Given the description of an element on the screen output the (x, y) to click on. 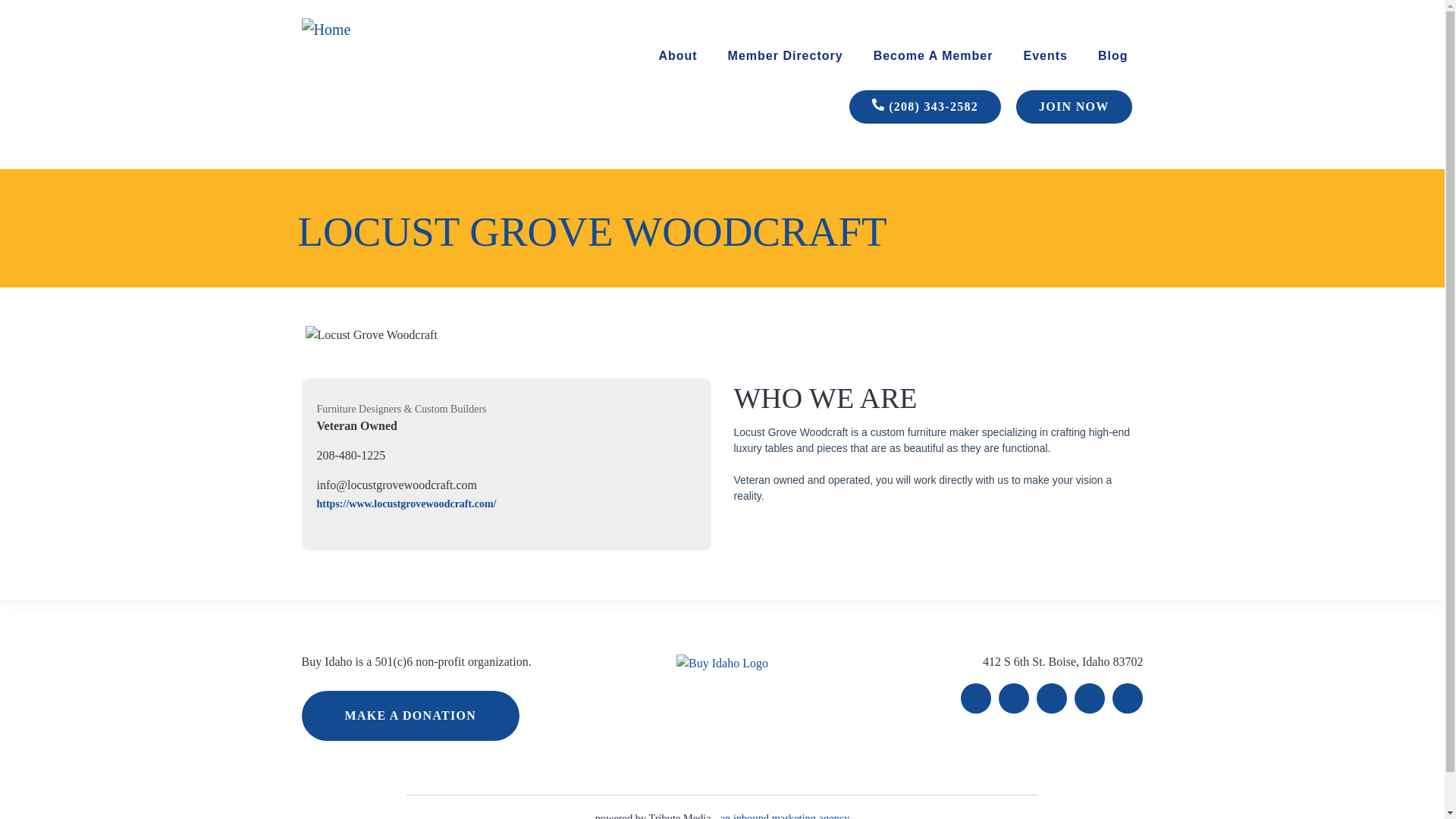
Become A Member (932, 55)
MAKE A DONATION (410, 716)
an inbound marketing agency (785, 815)
Events (1045, 55)
About (677, 55)
Make A Donation (410, 716)
Member Directory (785, 55)
Home (376, 29)
JOIN NOW (1073, 106)
